Given the description of an element on the screen output the (x, y) to click on. 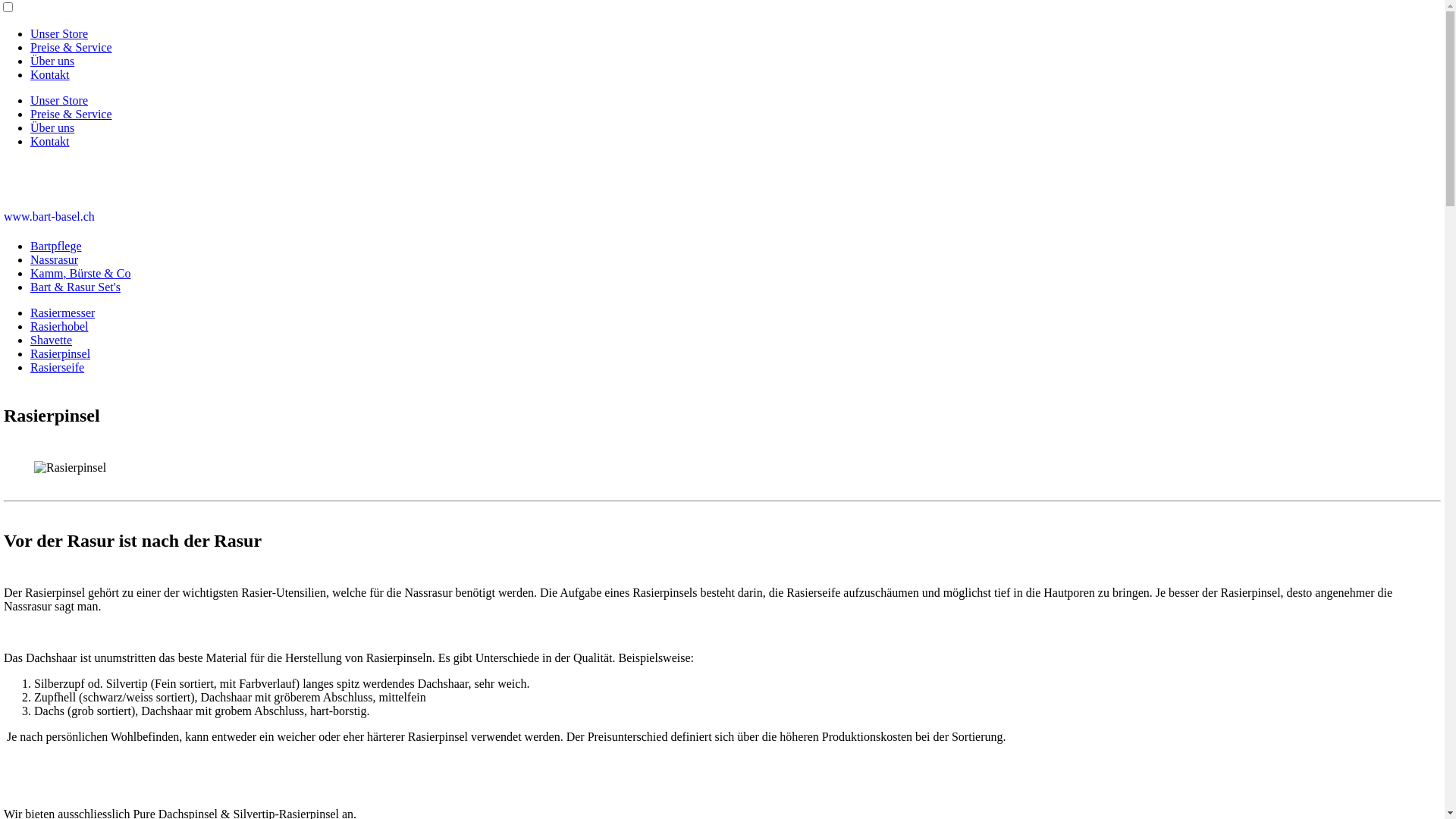
Rasierpinsel Element type: text (60, 353)
Bartpflege Element type: text (55, 245)
Unser Store Element type: text (58, 33)
Kontakt Element type: text (49, 140)
Kontakt Element type: text (49, 74)
Preise & Service Element type: text (71, 113)
Shavette Element type: text (51, 339)
Rasiermesser Element type: text (62, 312)
Bart & Rasur Set's Element type: text (75, 286)
Unser Store Element type: text (58, 100)
Preise & Service Element type: text (71, 46)
www.bart-basel.ch Element type: text (48, 216)
Rasierhobel Element type: text (58, 326)
Rasierseife Element type: text (57, 366)
Nassrasur Element type: text (54, 259)
